Given the description of an element on the screen output the (x, y) to click on. 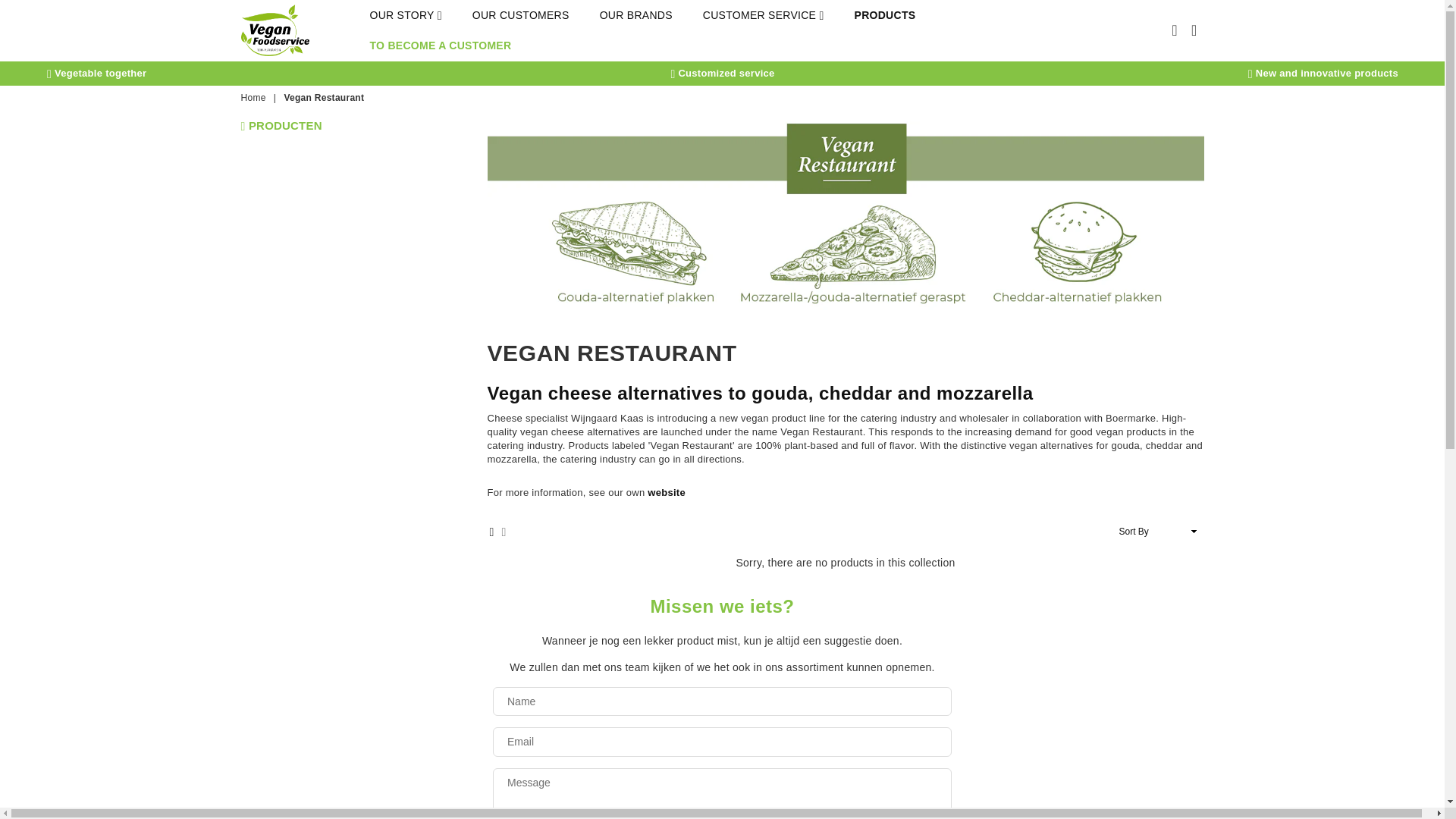
OUR STORY (405, 15)
Back to the home page (254, 97)
Vegan Food Services (305, 30)
New and innovative products (1322, 72)
PRODUCTEN (281, 125)
Vegetable together (96, 72)
PRODUCTS (884, 15)
website (666, 492)
TO BECOME A CUSTOMER (440, 45)
Customized service (721, 72)
Home (254, 97)
CUSTOMER SERVICE (763, 15)
Vegan Restaurant (666, 492)
OUR BRANDS (635, 15)
OUR CUSTOMERS (520, 15)
